Given the description of an element on the screen output the (x, y) to click on. 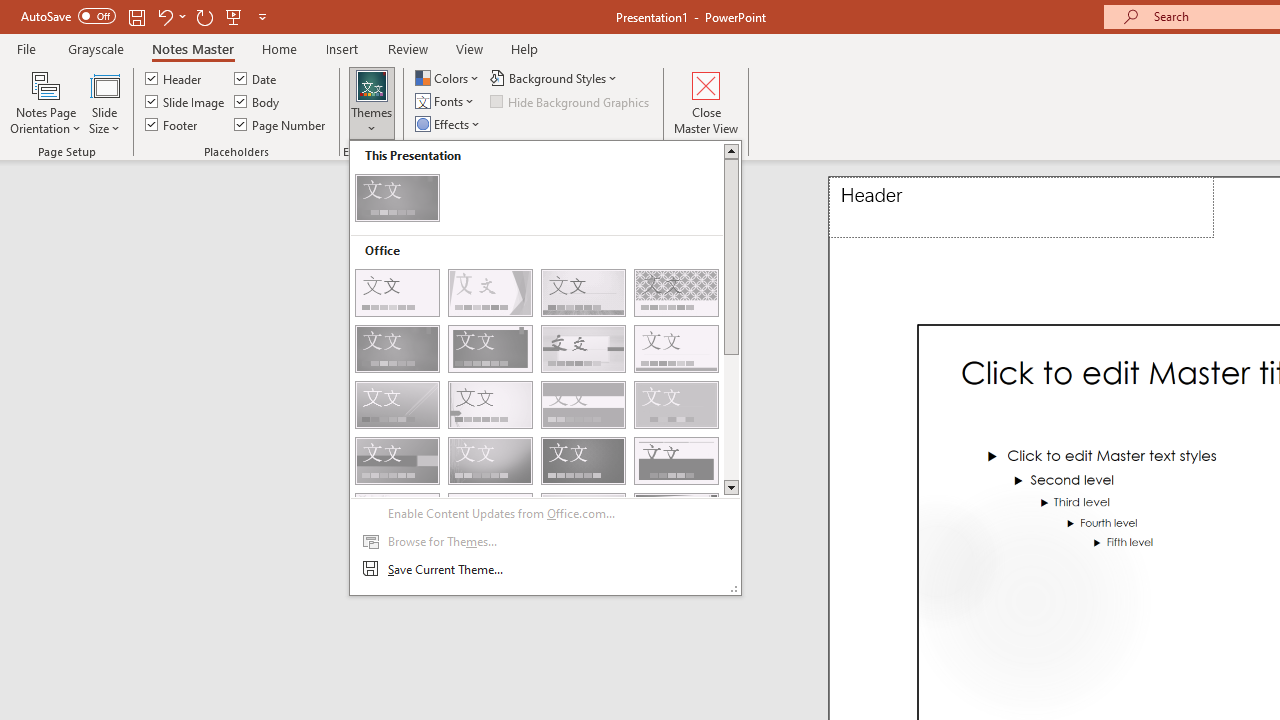
Background Styles (555, 78)
Notes Master (193, 48)
Effects (449, 124)
